Given the description of an element on the screen output the (x, y) to click on. 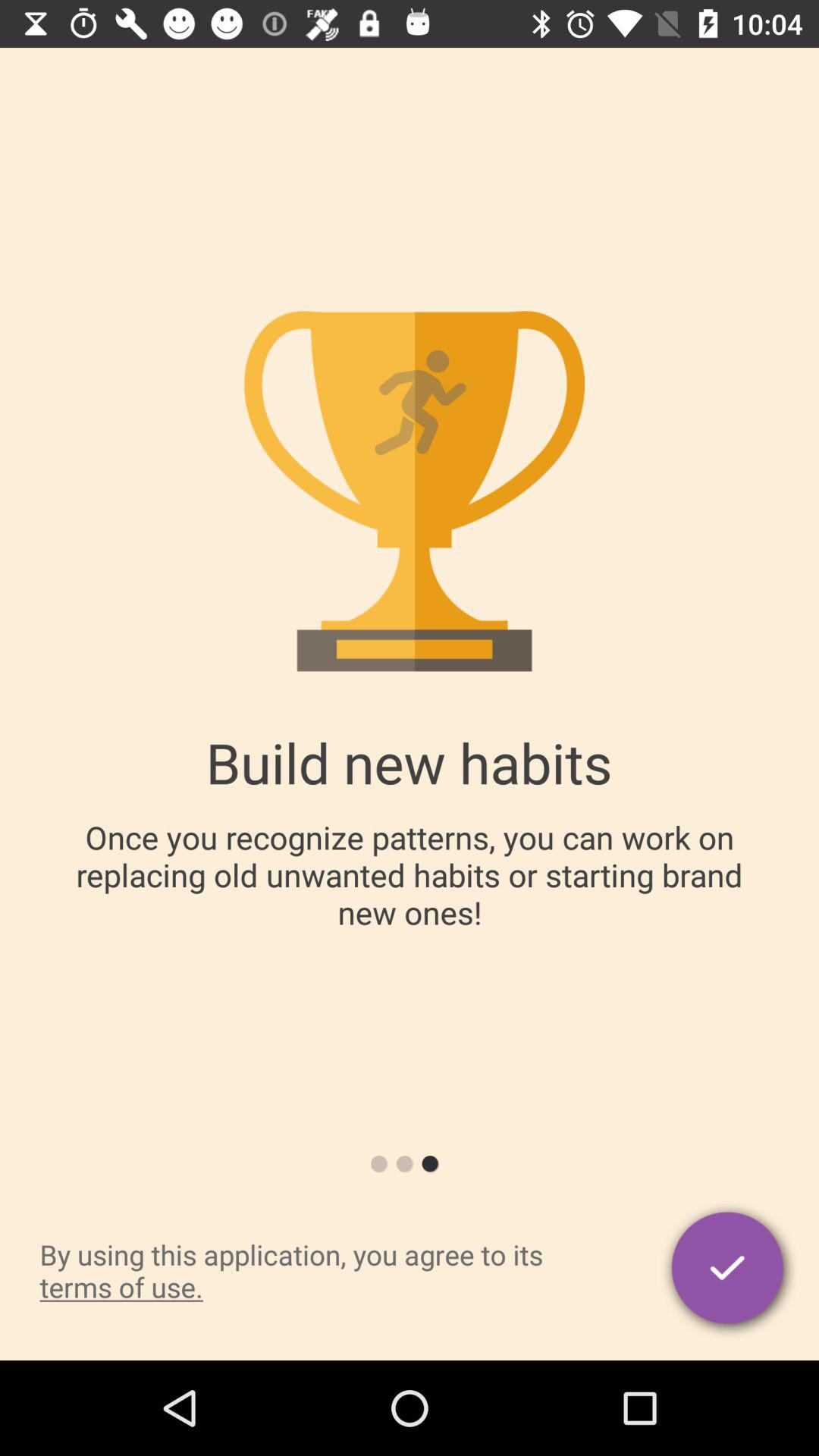
select the item next to by using this (729, 1270)
